Given the description of an element on the screen output the (x, y) to click on. 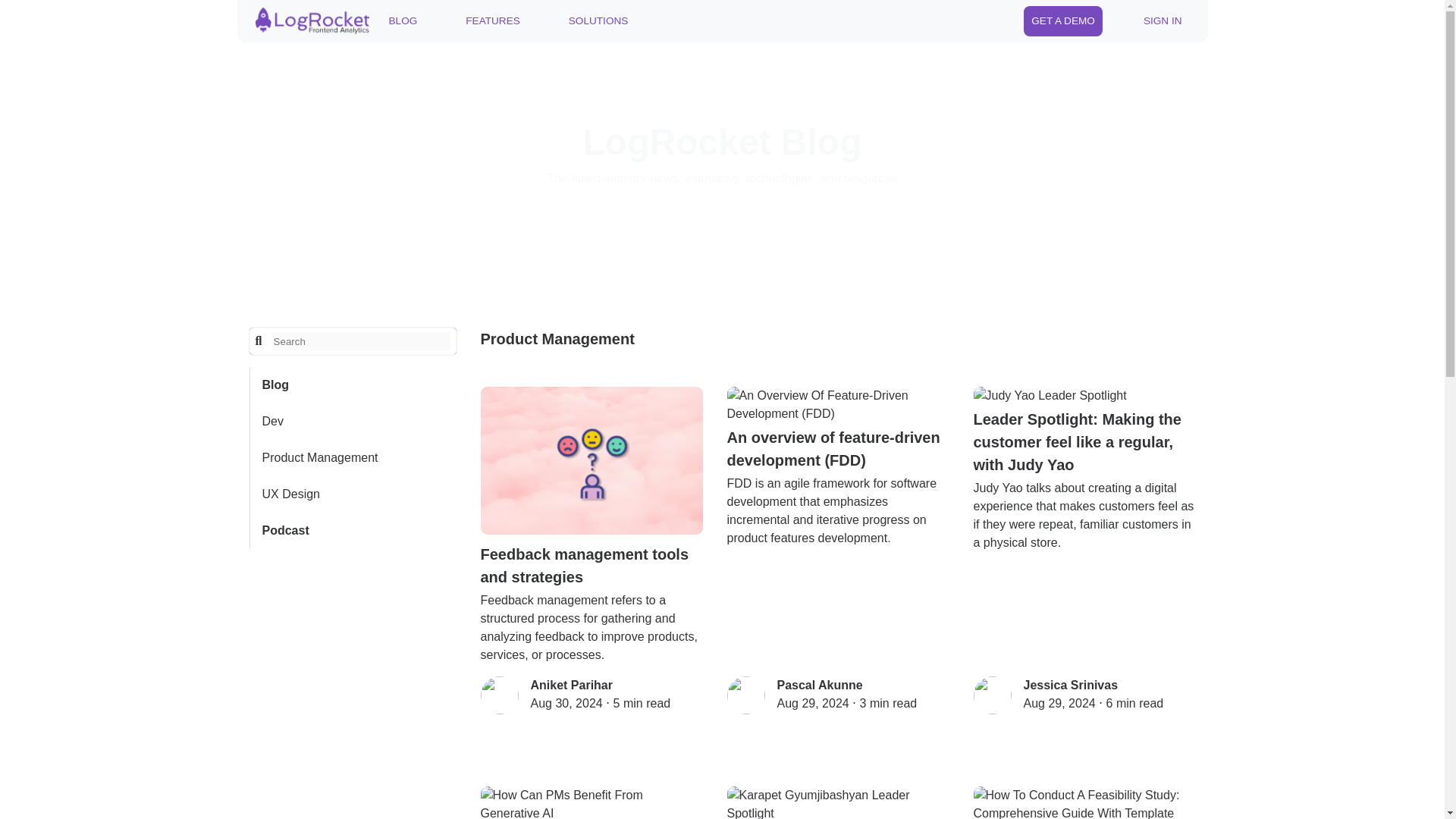
BLOG (402, 20)
Blog (353, 384)
Jessica Srinivas (1070, 684)
Feedback management tools and strategies (591, 487)
GET A DEMO (1062, 20)
Pascal Akunne (818, 684)
Aniket Parihar (571, 684)
SIGN IN (1162, 20)
Podcast (353, 530)
SOLUTIONS (598, 20)
